Given the description of an element on the screen output the (x, y) to click on. 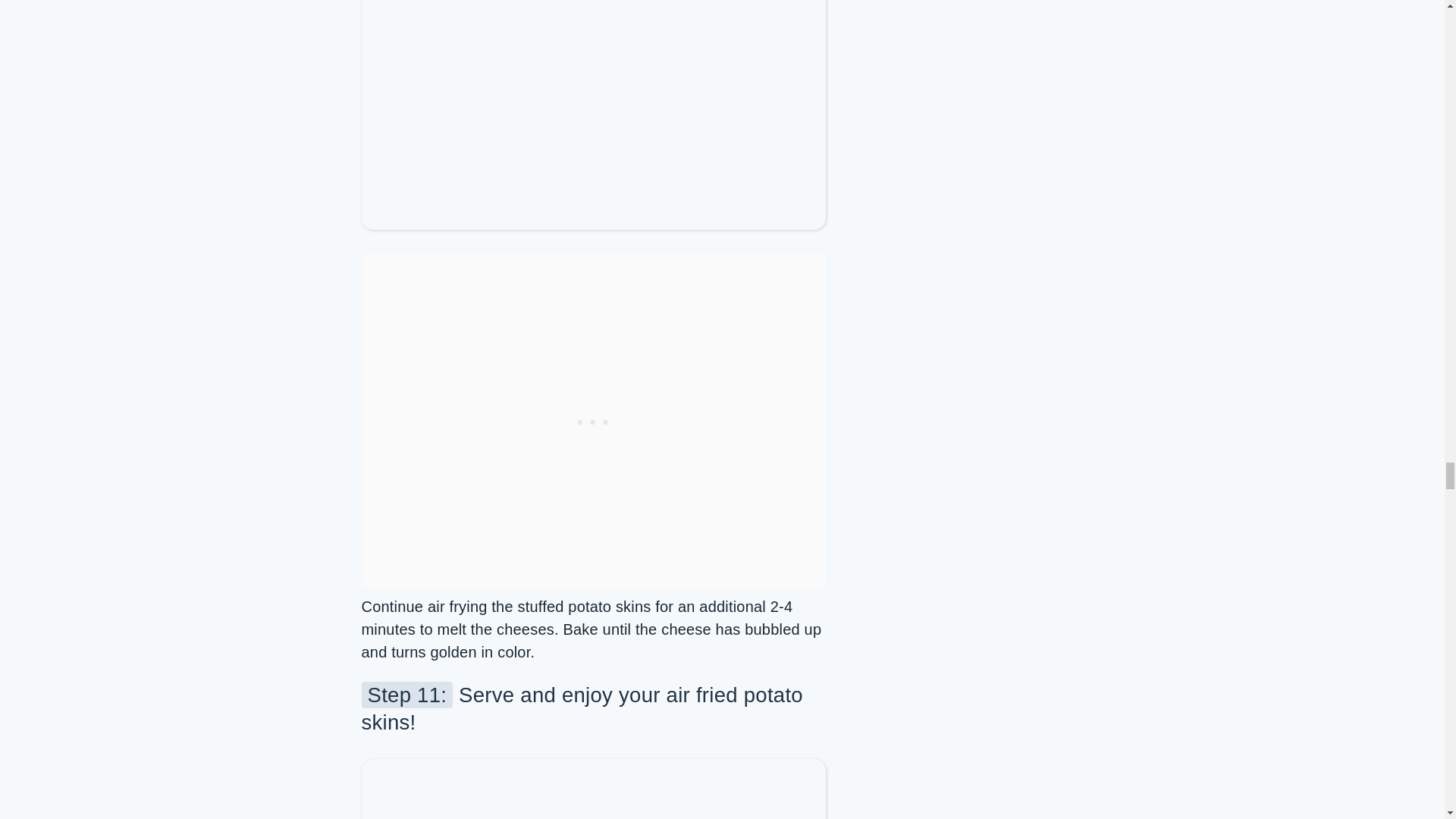
Baking potato skins in air fryer (593, 5)
